Given the description of an element on the screen output the (x, y) to click on. 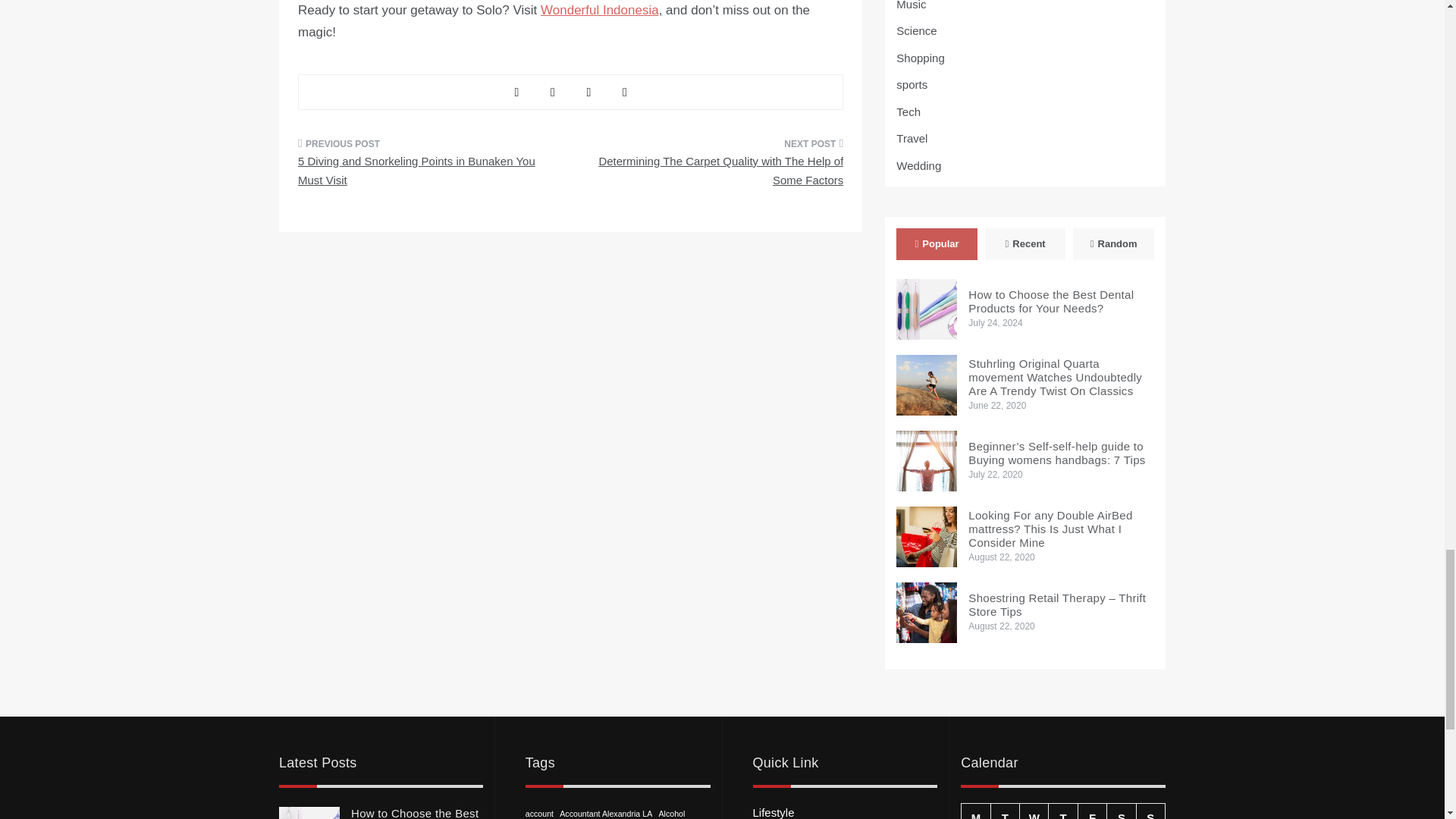
Saturday (1120, 811)
Tuesday (1004, 811)
Monday (975, 811)
Sunday (1149, 811)
Thursday (1062, 811)
Wednesday (1034, 811)
Friday (1091, 811)
